Given the description of an element on the screen output the (x, y) to click on. 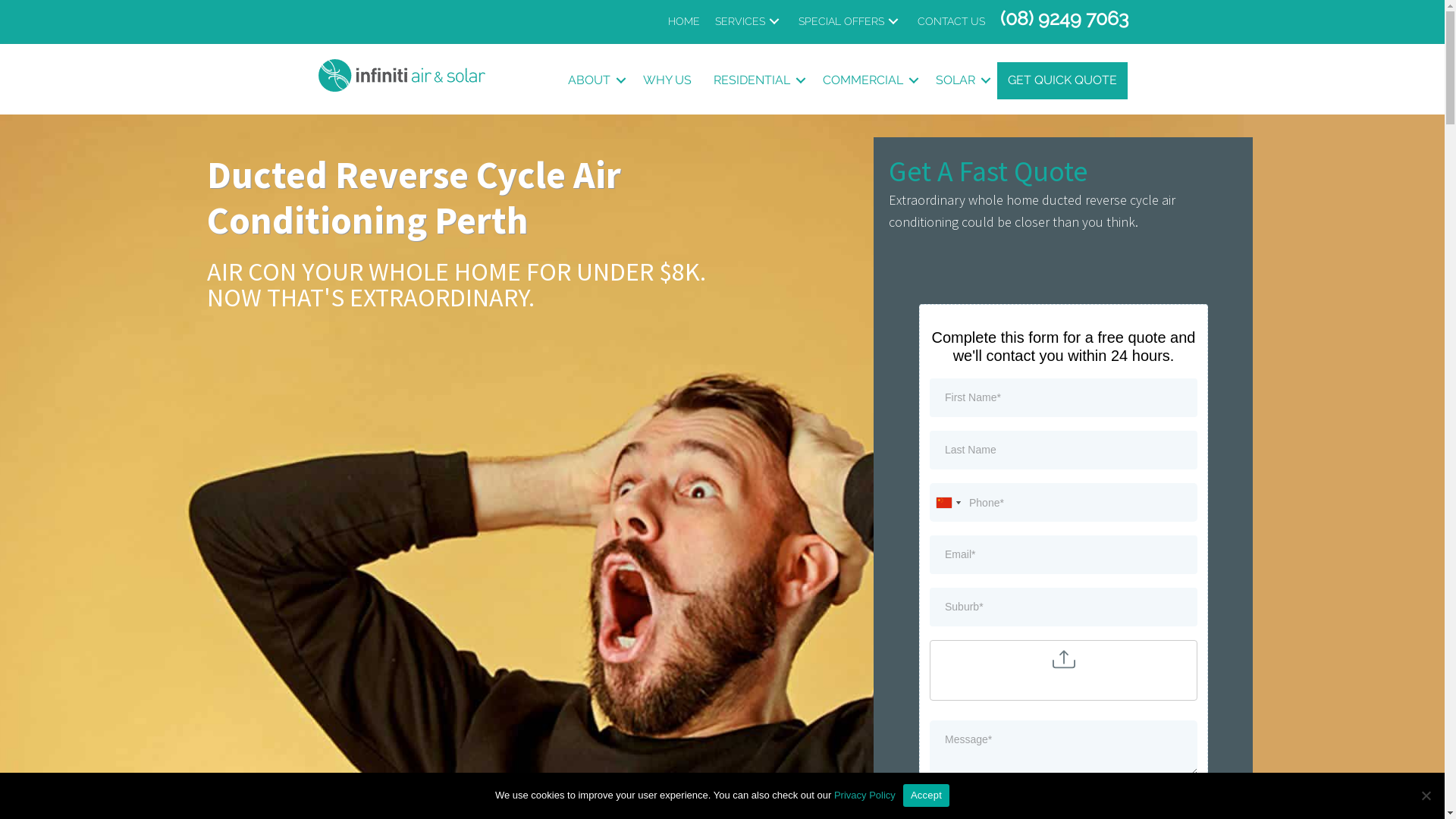
SOLAR Element type: text (960, 80)
WHY US Element type: text (667, 80)
GET QUICK QUOTE Element type: text (1062, 80)
COMMERCIAL Element type: text (868, 80)
No Element type: hover (1425, 795)
SPECIAL OFFERS Element type: text (849, 21)
CONTACT US Element type: text (951, 21)
(08) 9249 7063 Element type: text (1063, 18)
HOME Element type: text (682, 21)
ABOUT Element type: text (594, 80)
infiniti-logo Element type: hover (401, 75)
RESIDENTIAL Element type: text (756, 80)
Privacy Policy Element type: text (864, 795)
Accept Element type: text (926, 795)
SERVICES Element type: text (748, 21)
